Given the description of an element on the screen output the (x, y) to click on. 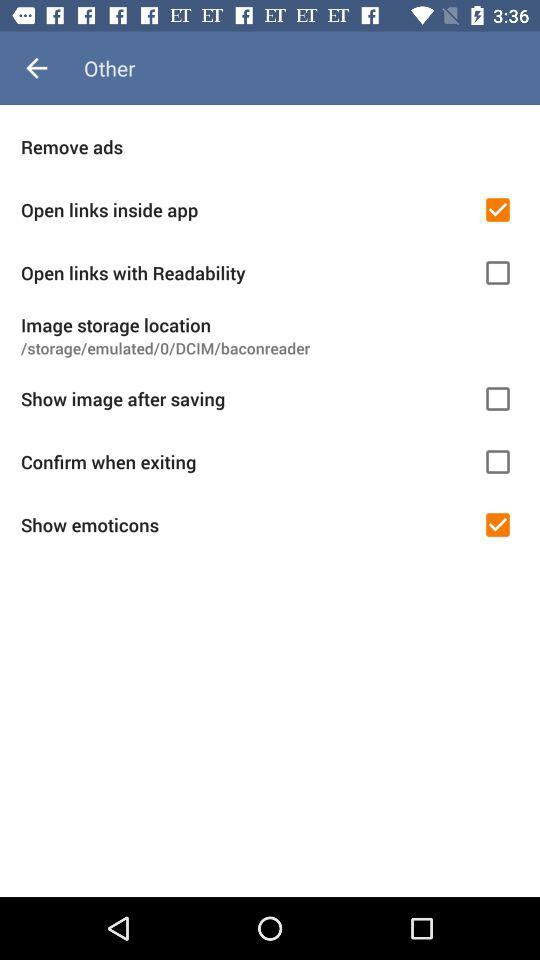
scroll until the confirm when exiting (245, 461)
